Given the description of an element on the screen output the (x, y) to click on. 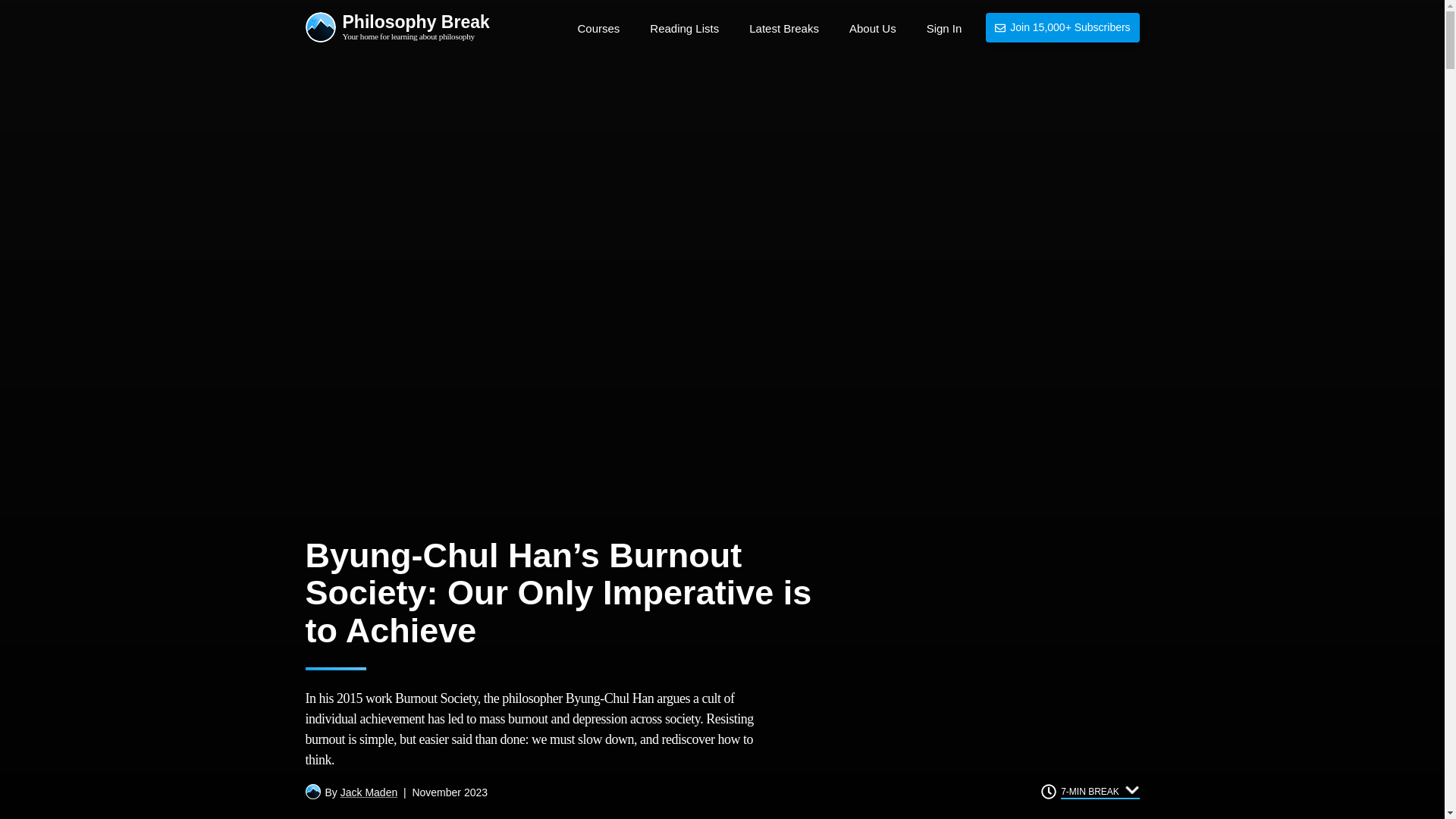
7-MIN BREAK   (1099, 790)
Jack Maden (368, 792)
Courses (598, 29)
About Us (872, 29)
Reading Lists (684, 29)
Latest Breaks (783, 29)
Sign In (396, 28)
